Given the description of an element on the screen output the (x, y) to click on. 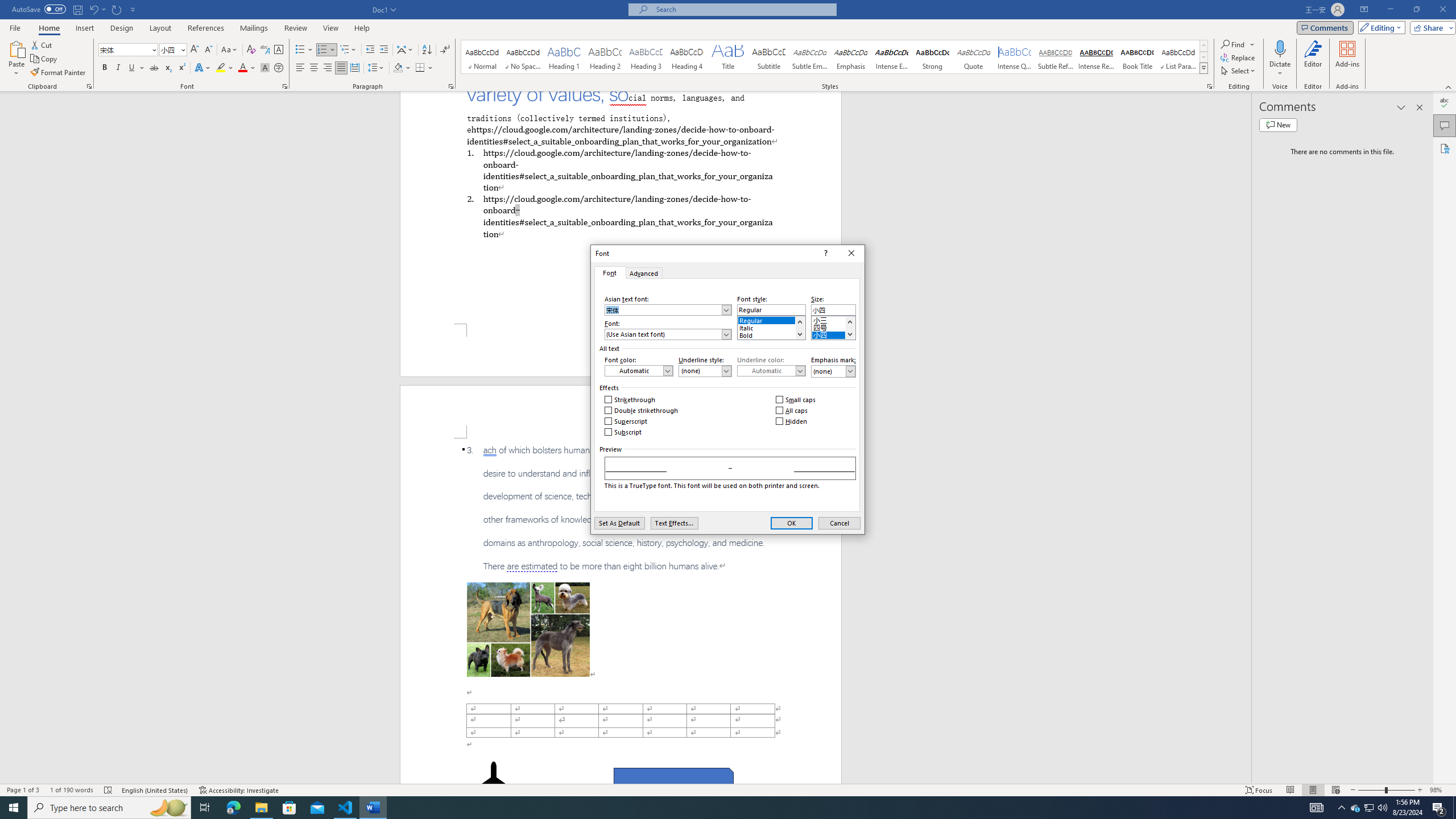
Text Effects... (673, 522)
Repeat Style (117, 9)
Cancel (1368, 807)
Show desktop (839, 522)
Font (1454, 807)
Paragraph... (124, 49)
1. (450, 85)
Open (620, 169)
Numbering (182, 49)
OK (322, 49)
Strong (791, 522)
Enclose Characters... (932, 56)
Size: (278, 67)
